Given the description of an element on the screen output the (x, y) to click on. 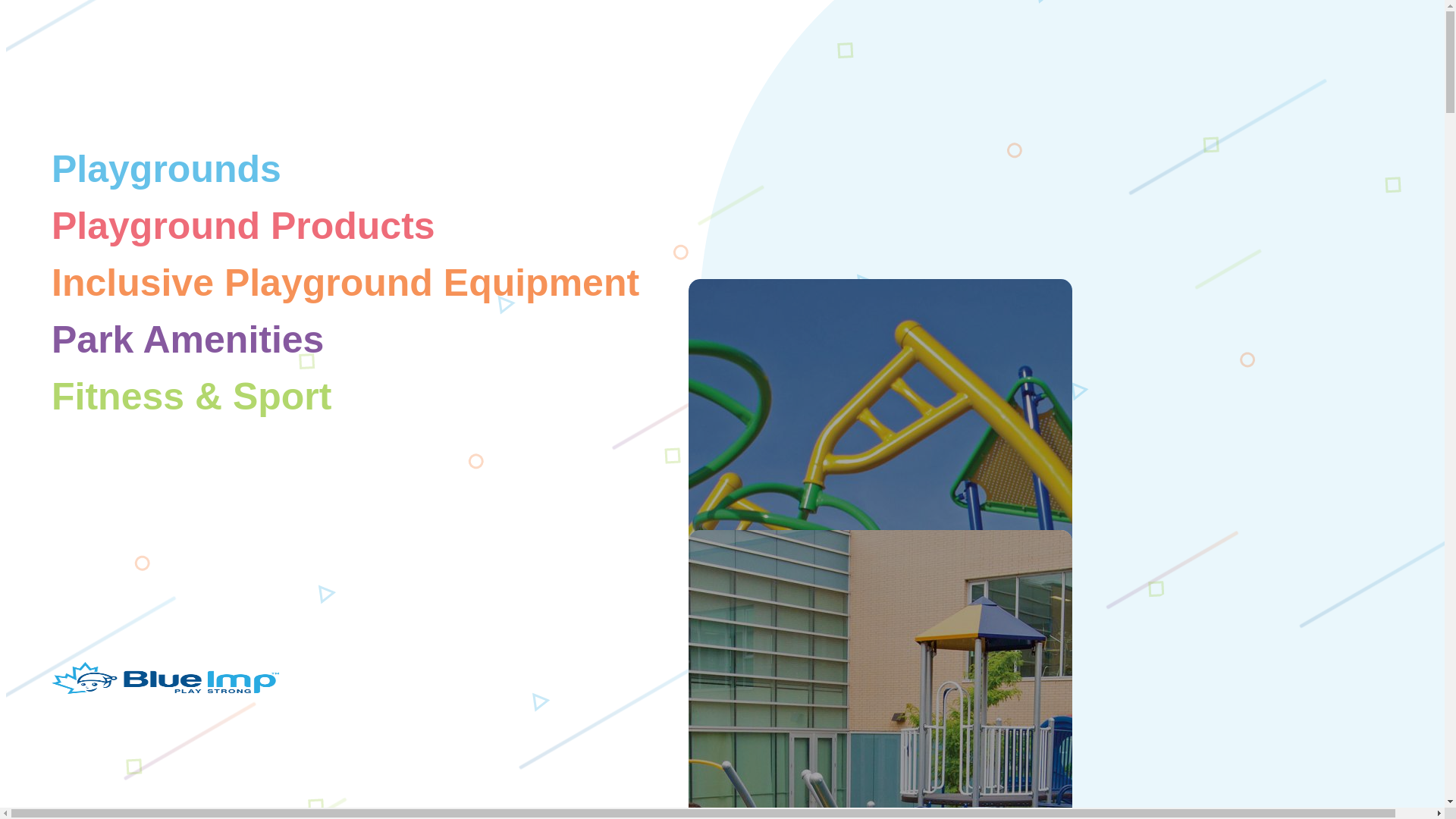
School Playgrounds (880, 674)
Playground Products (242, 225)
Park Amenities (186, 339)
Inclusive Playground Equipment (344, 282)
Playgrounds (165, 169)
